Given the description of an element on the screen output the (x, y) to click on. 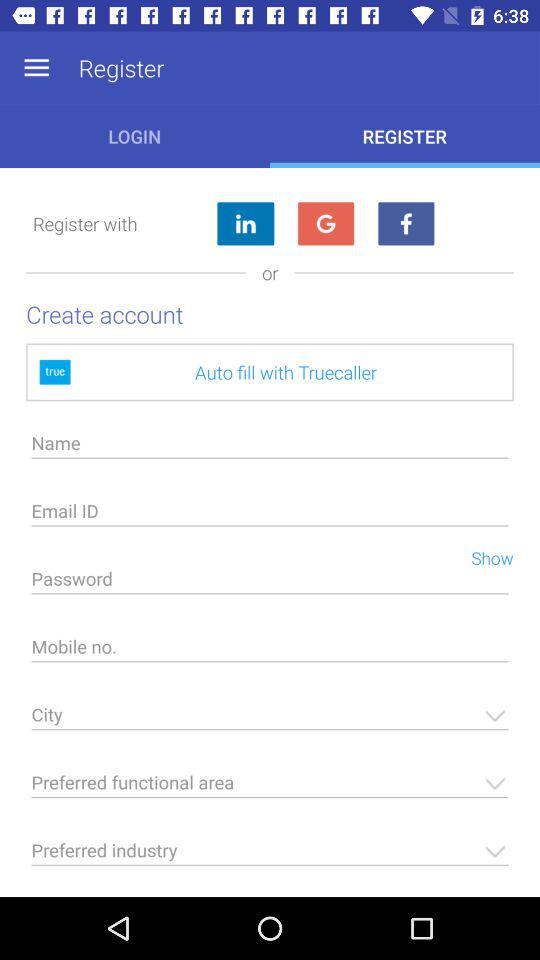
choose show item (484, 556)
